Given the description of an element on the screen output the (x, y) to click on. 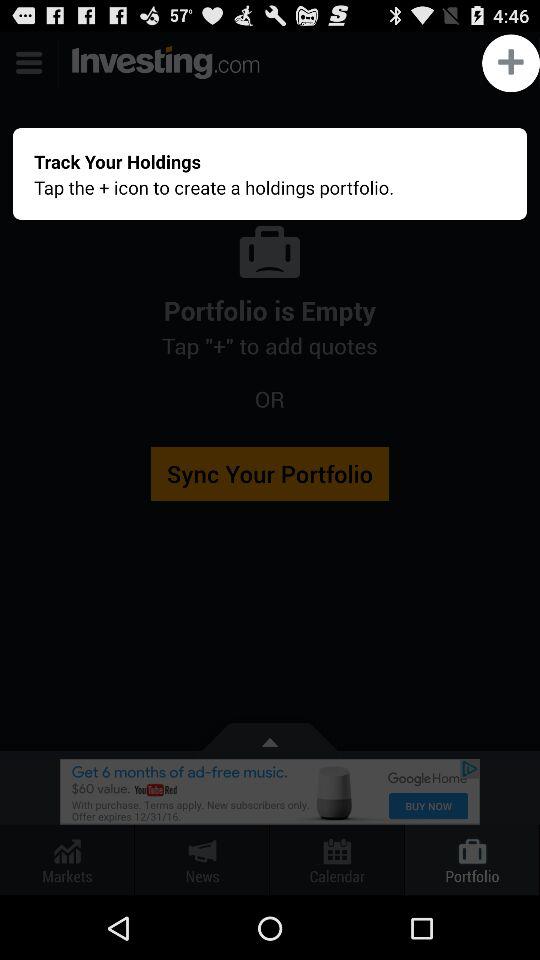
press item at the center (270, 463)
